Given the description of an element on the screen output the (x, y) to click on. 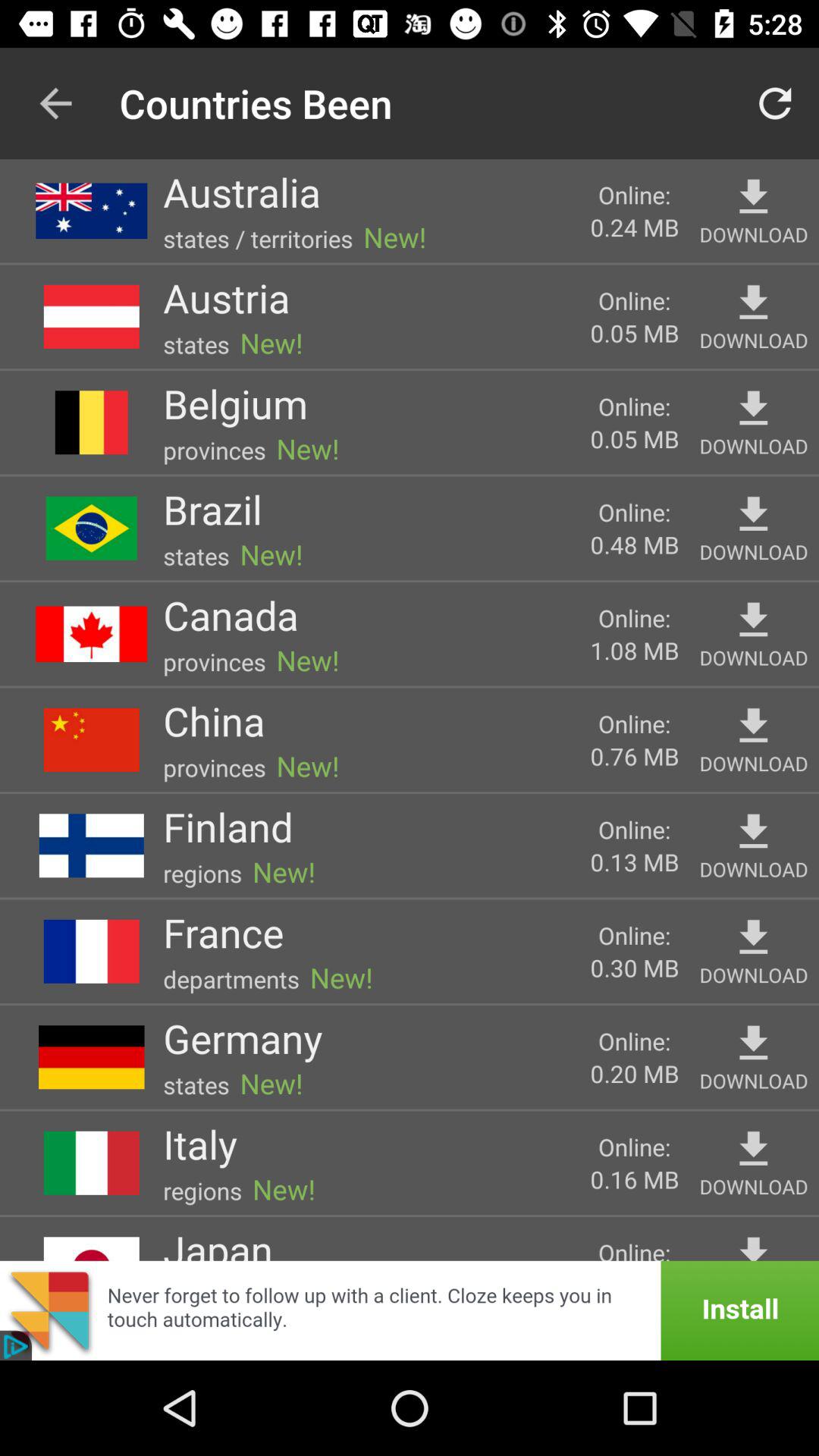
tap the icon next to the 0.05 mb item (226, 297)
